Given the description of an element on the screen output the (x, y) to click on. 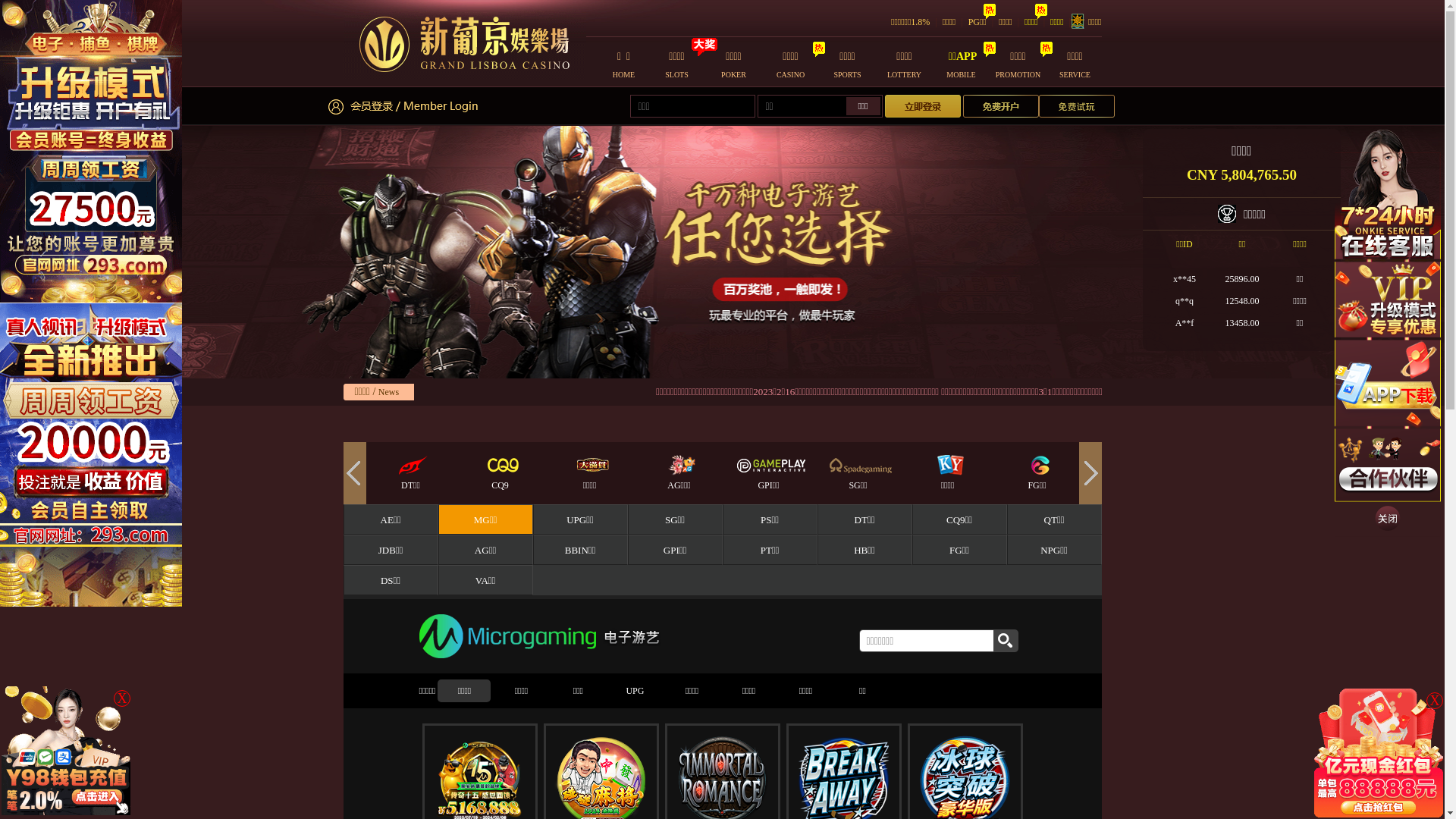
X Element type: text (121, 698)
UPG Element type: text (634, 690)
X Element type: text (1434, 700)
CQ9 Element type: text (588, 479)
